Given the description of an element on the screen output the (x, y) to click on. 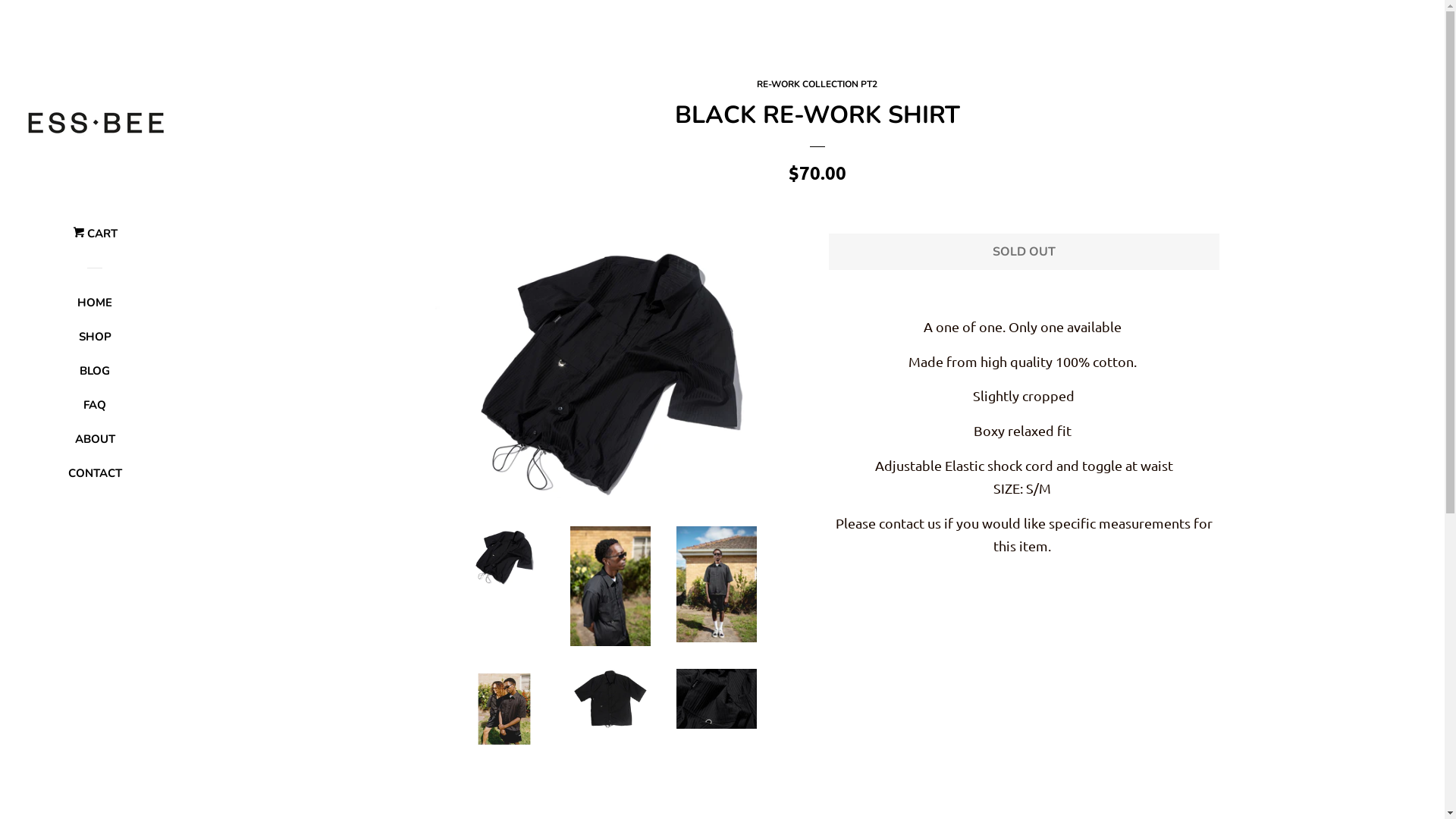
RE-WORK COLLECTION PT2 Element type: text (816, 84)
CONTACT Element type: text (94, 478)
FAQ Element type: text (94, 410)
BLOG Element type: text (94, 376)
SHOP Element type: text (94, 342)
HOME Element type: text (94, 308)
ABOUT Element type: text (94, 444)
CART Element type: text (94, 239)
Close Element type: text (1394, 100)
SOLD OUT Element type: text (1023, 251)
